Given the description of an element on the screen output the (x, y) to click on. 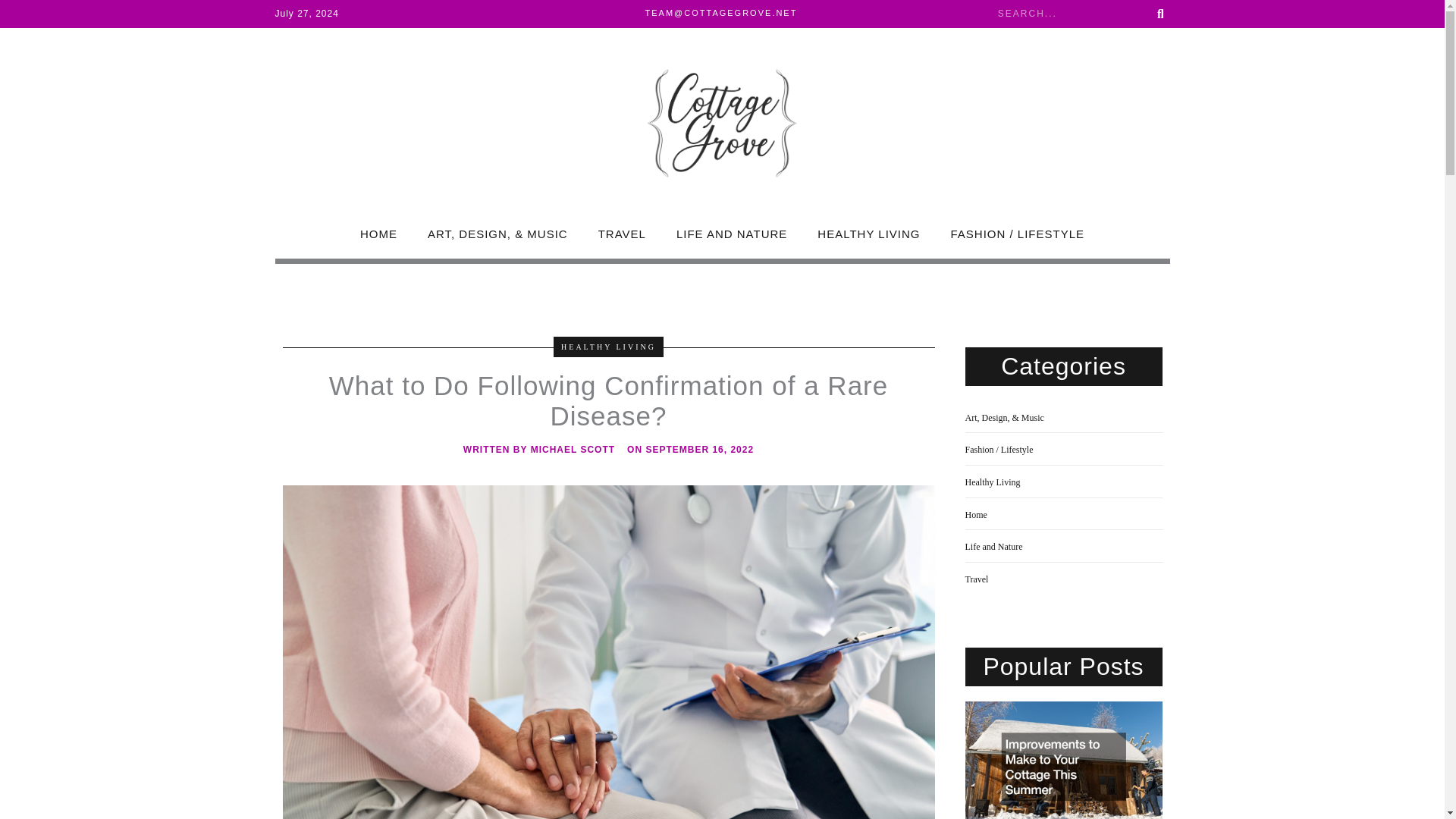
TRAVEL (622, 233)
WRITTEN BY MICHAEL SCOTT (538, 449)
HEALTHY LIVING (868, 233)
LIFE AND NATURE (731, 233)
HOME (378, 233)
HEALTHY LIVING (608, 346)
ON SEPTEMBER 16, 2022 (690, 449)
